Given the description of an element on the screen output the (x, y) to click on. 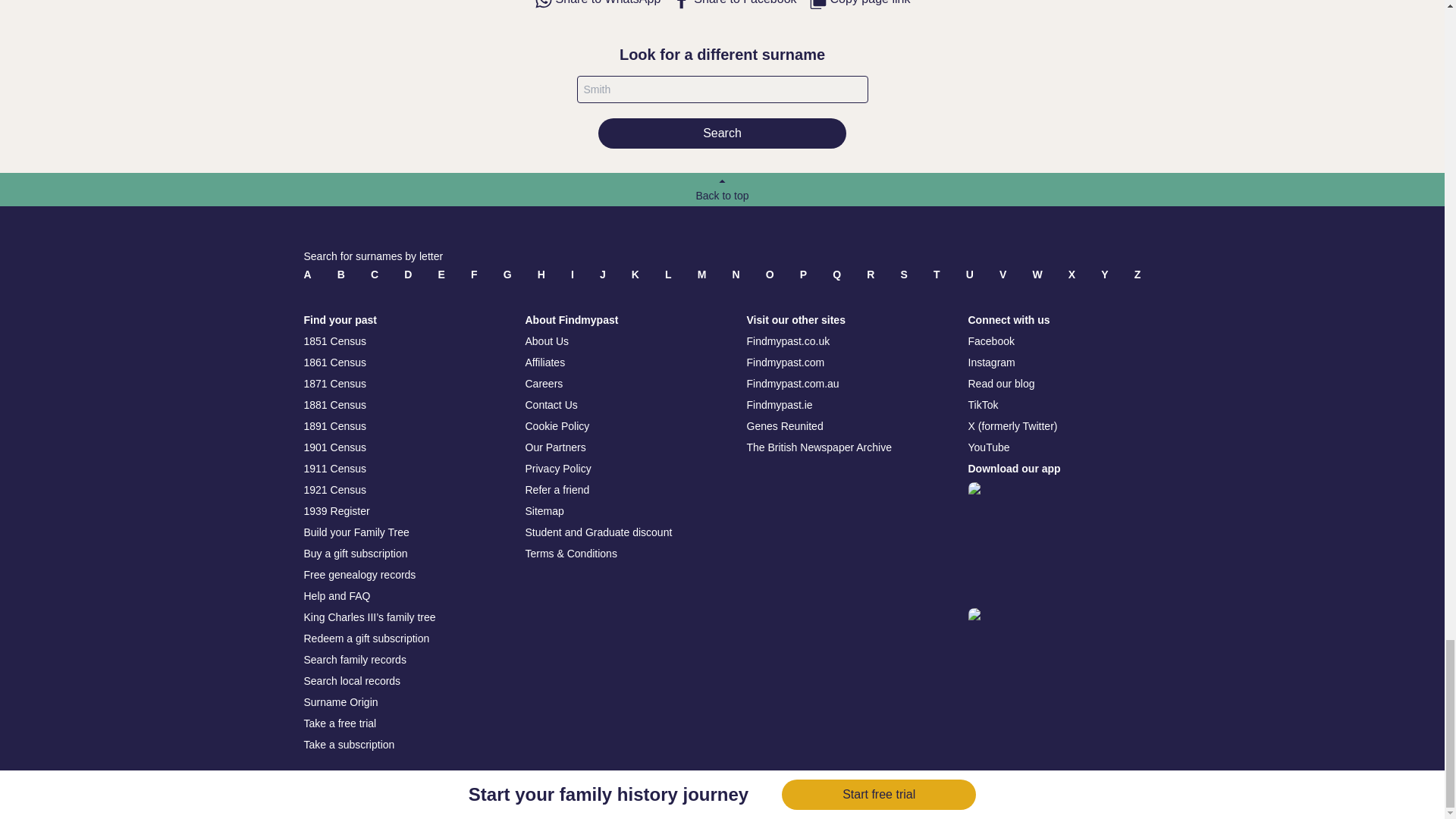
Share to Facebook (734, 4)
Copy page link (860, 4)
Share to WhatsApp (597, 4)
Search (721, 132)
